Given the description of an element on the screen output the (x, y) to click on. 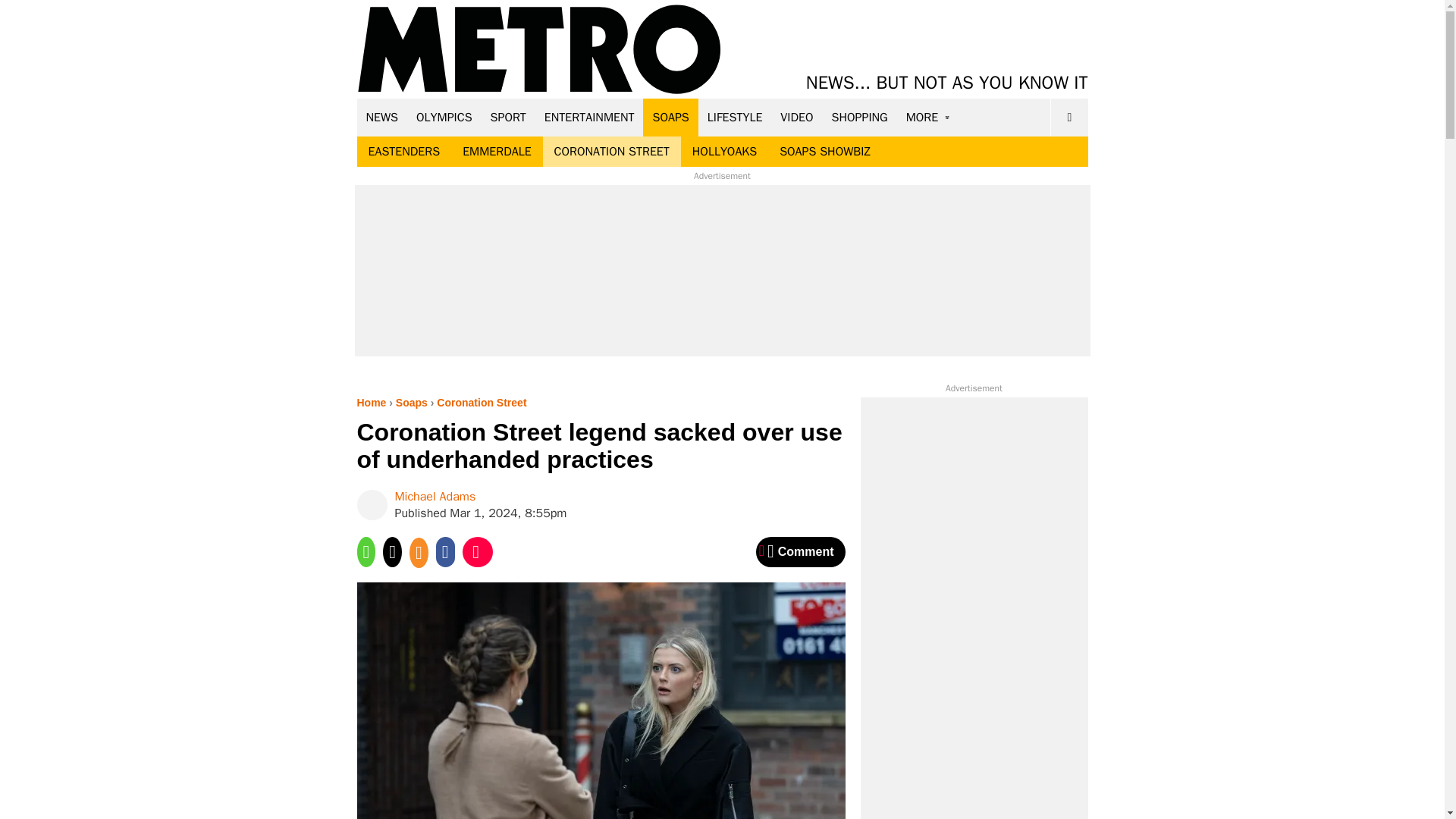
Metro (539, 50)
NEWS (381, 117)
EASTENDERS (403, 151)
CORONATION STREET (612, 151)
OLYMPICS (444, 117)
ENTERTAINMENT (589, 117)
SPORT (508, 117)
SOAPS (670, 117)
EMMERDALE (496, 151)
SOAPS SHOWBIZ (825, 151)
